Given the description of an element on the screen output the (x, y) to click on. 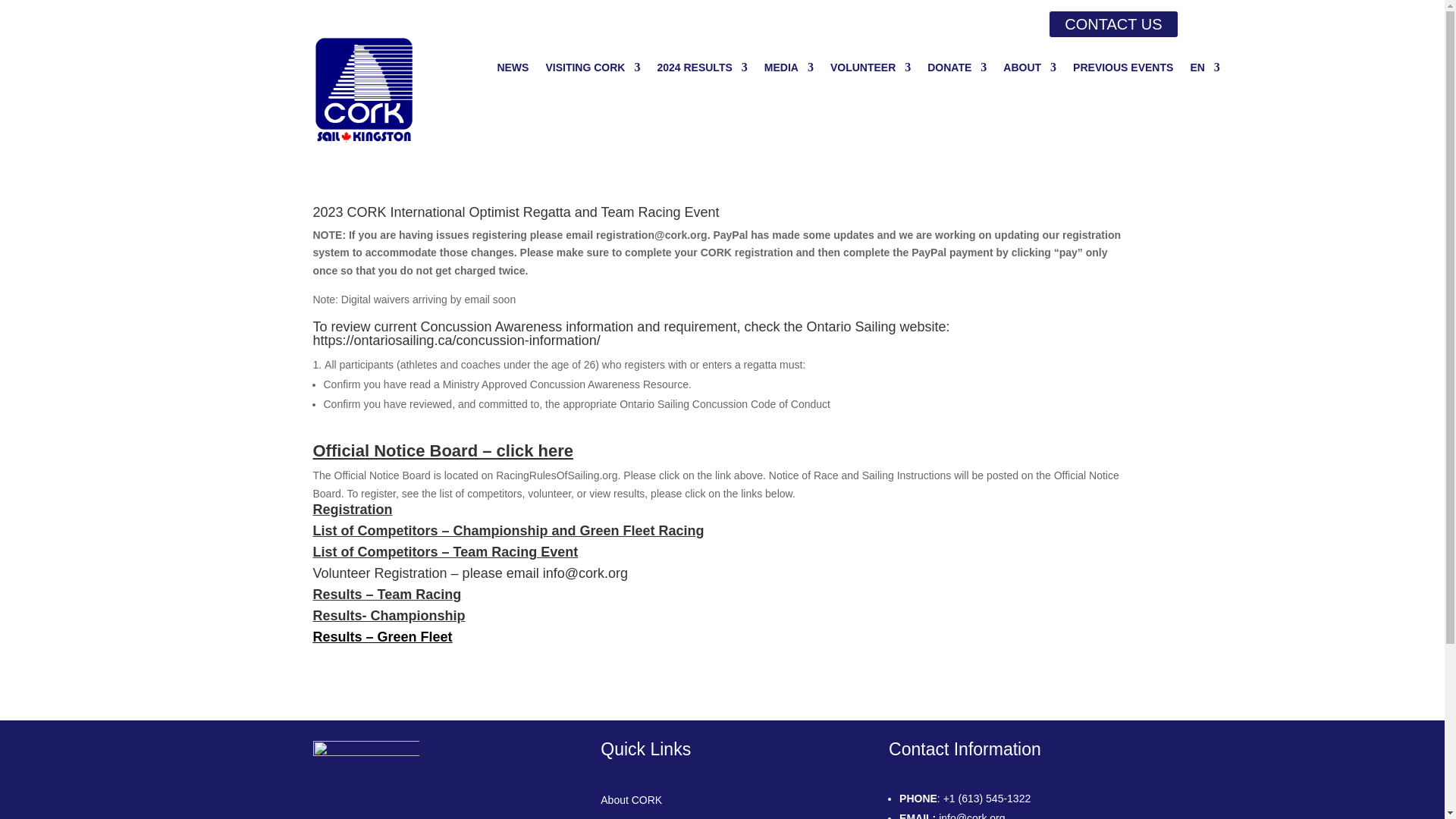
ABOUT (1030, 70)
CORK Sail Kingston Logo (363, 90)
VOLUNTEER (870, 70)
VISITING CORK (592, 70)
MEDIA (788, 70)
PREVIOUS EVENTS (1123, 70)
CONTACT US (1112, 23)
NEWS (512, 70)
CORKlogo-white (366, 780)
2024 RESULTS (701, 70)
